Given the description of an element on the screen output the (x, y) to click on. 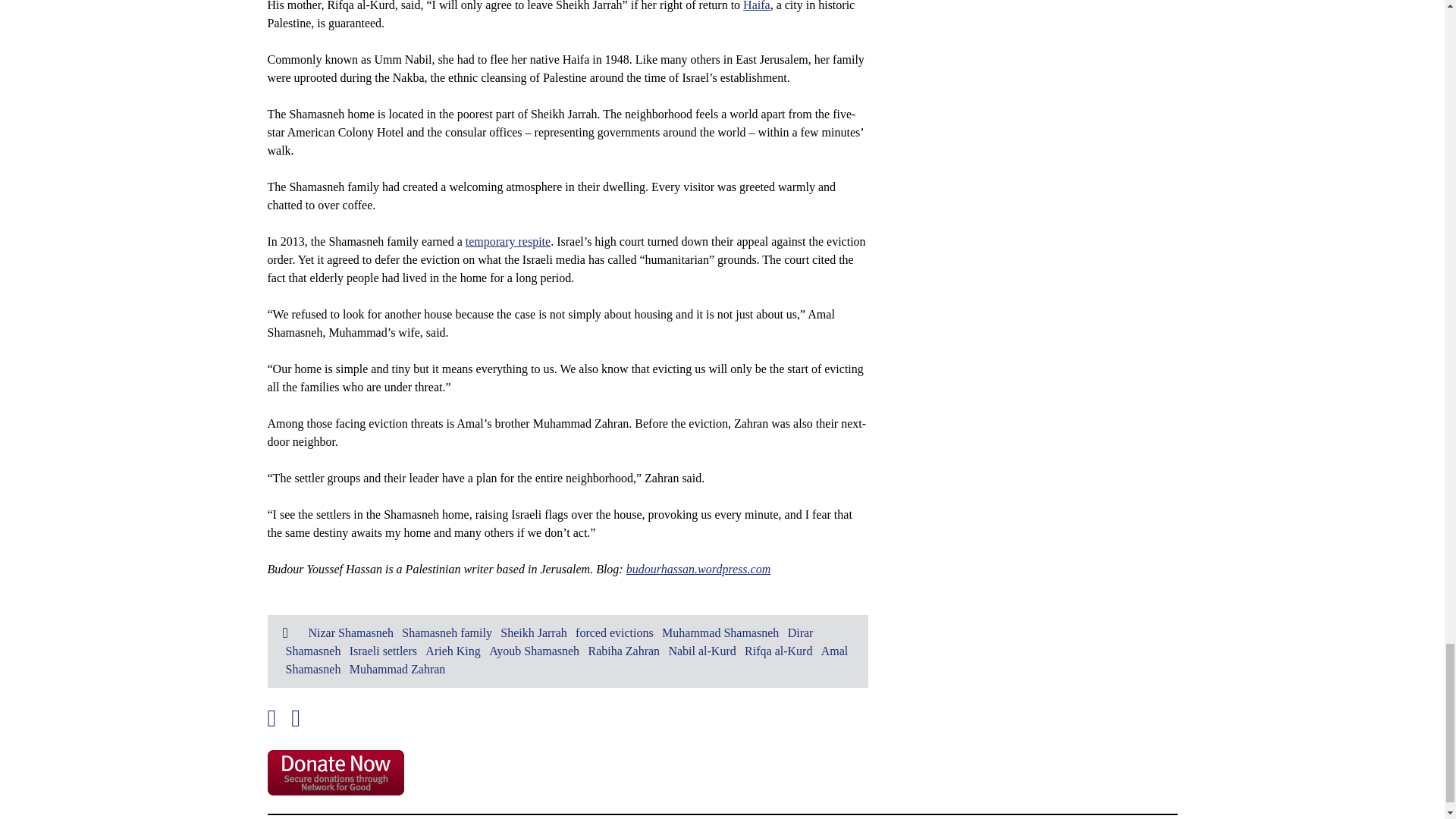
Amal Shamasneh (566, 659)
Israeli settlers (382, 650)
Ayoub Shamasneh (534, 650)
Muhammad Zahran (397, 668)
Nizar Shamasneh (350, 632)
Muhammad Shamasneh (720, 632)
budourhassan.wordpress.com (698, 568)
Haifa (756, 5)
Arieh King (452, 650)
temporary respite (507, 241)
Nabil al-Kurd (701, 650)
Rifqa al-Kurd (778, 650)
forced evictions (614, 632)
Dirar Shamasneh (548, 641)
Rabiha Zahran (623, 650)
